Given the description of an element on the screen output the (x, y) to click on. 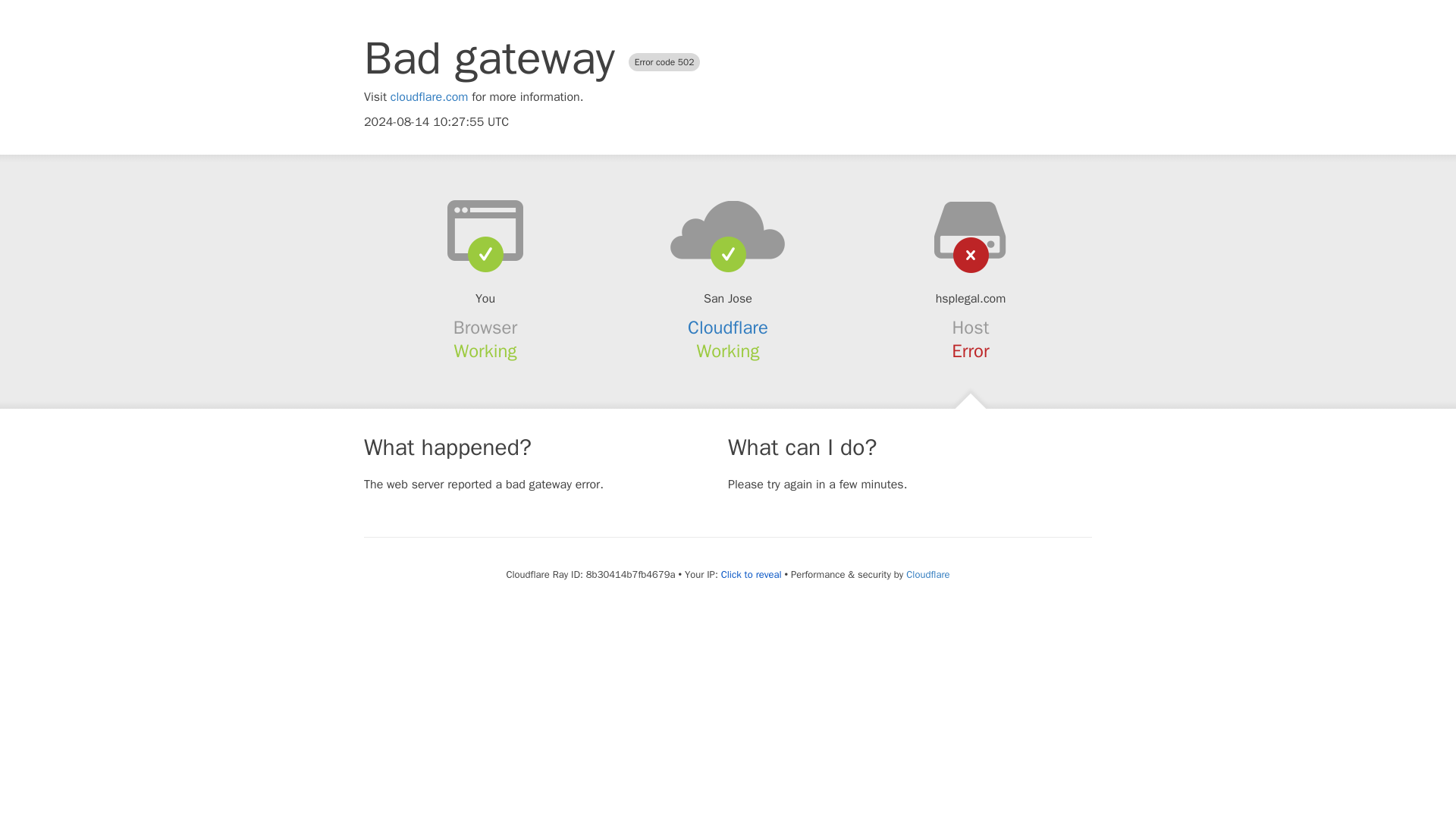
Cloudflare (927, 574)
Cloudflare (727, 327)
Click to reveal (750, 574)
cloudflare.com (429, 96)
